Given the description of an element on the screen output the (x, y) to click on. 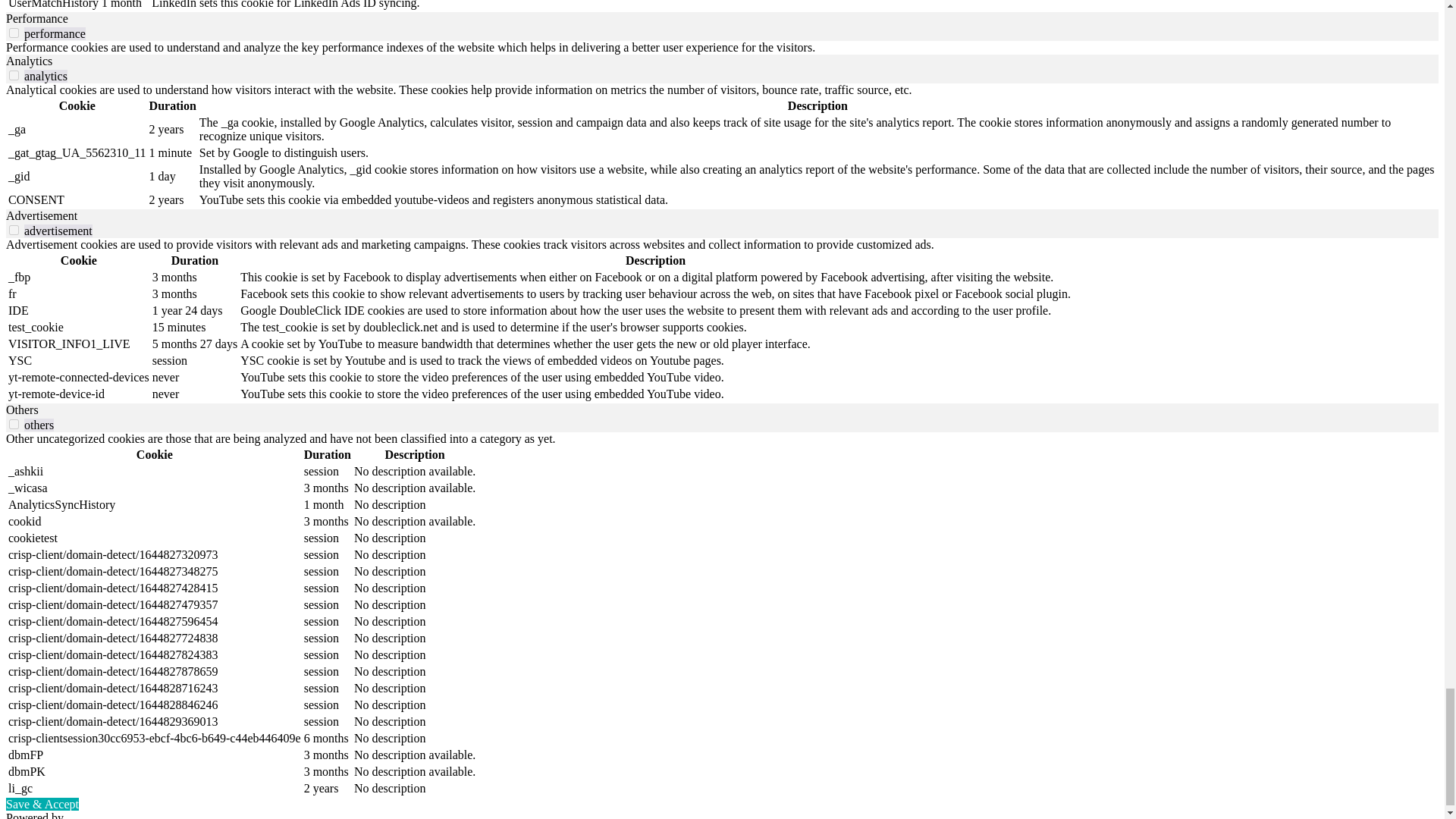
on (13, 230)
on (13, 75)
on (13, 32)
on (13, 424)
